Given the description of an element on the screen output the (x, y) to click on. 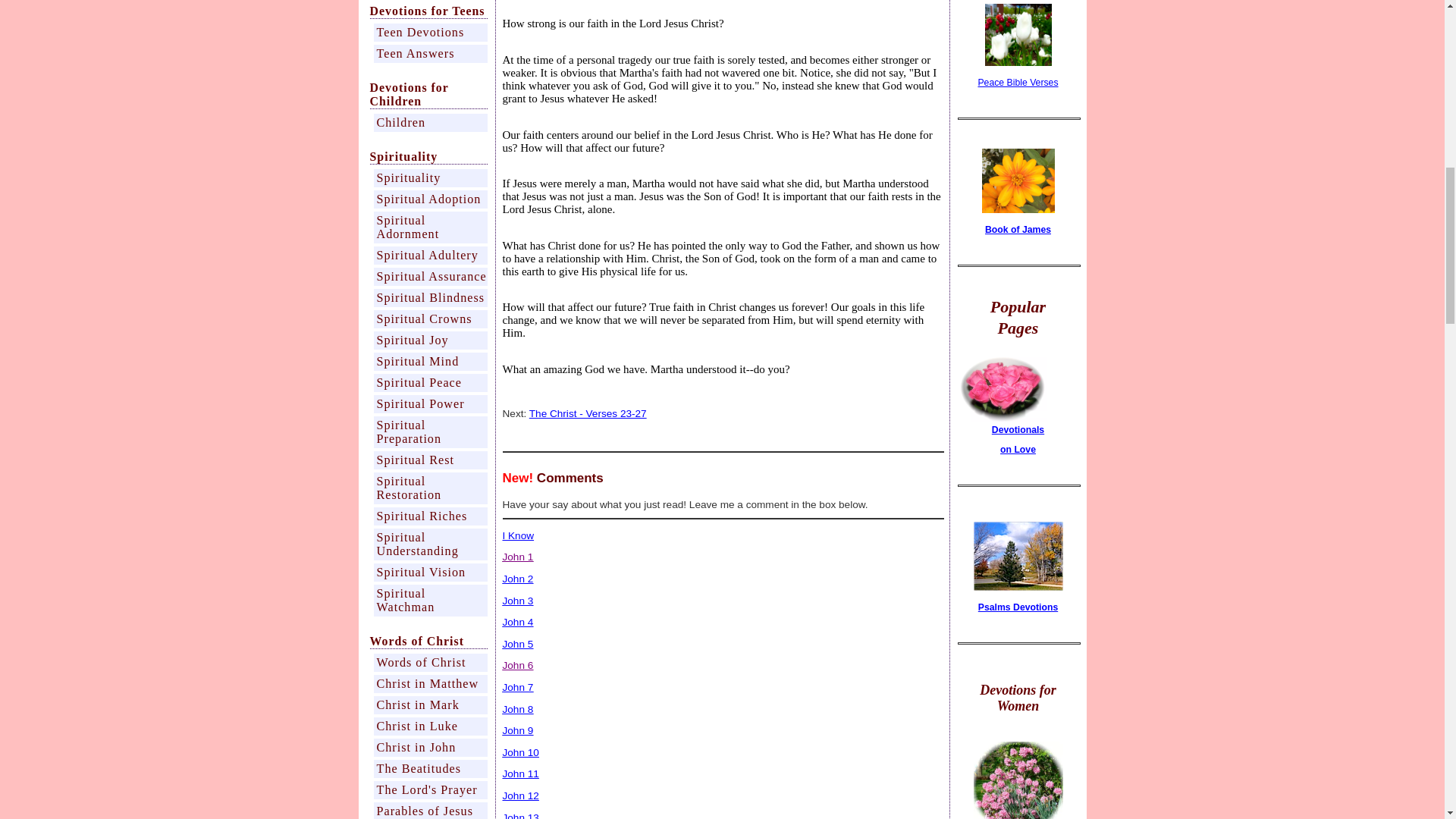
John 1 (517, 556)
John 6 (517, 665)
Go to Book of James Reflections (1017, 209)
John 4 (517, 622)
Go to Psalms Devotions (1018, 587)
John 7 (517, 686)
John 3 (517, 600)
John 11 (520, 773)
I Know (518, 535)
John 8 (517, 708)
The Christ - Verses 23-27 (587, 413)
John 5 (517, 644)
John 2 (517, 578)
John 10 (520, 752)
John 12 (520, 795)
